Given the description of an element on the screen output the (x, y) to click on. 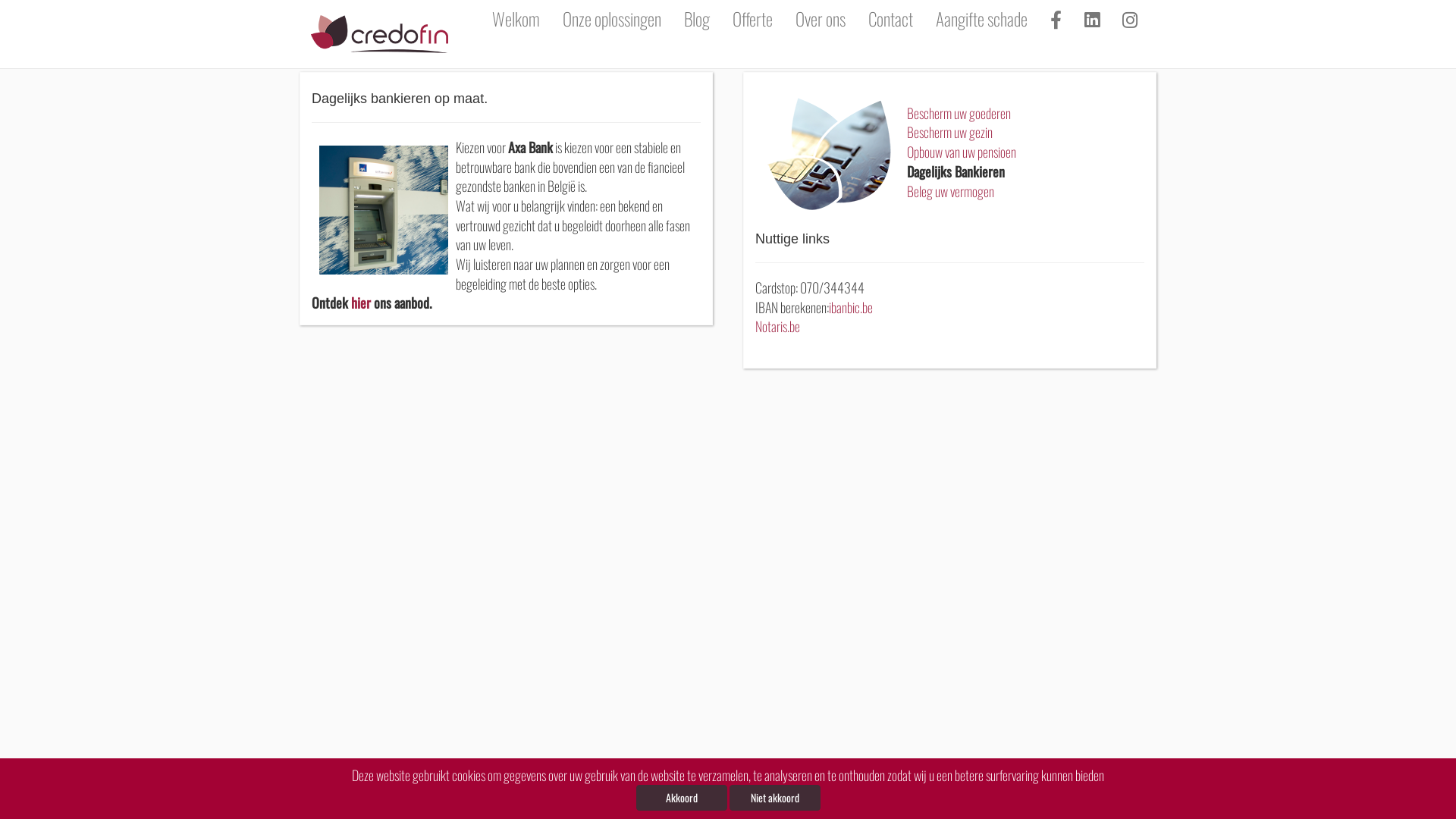
ibanbic.be Element type: text (850, 306)
Aangifte schade Element type: text (981, 18)
Opbouw van uw pensioen Element type: text (961, 151)
Blog Element type: text (696, 18)
Welkom Element type: text (515, 18)
Duurzaamheidsbeleid Element type: text (539, 802)
Notaris.be Element type: text (777, 325)
Privacy verklaring Element type: text (461, 802)
Beleg uw vermogen Element type: text (950, 190)
Assur Mifid gedragsregels Element type: text (378, 802)
Onze oplossingen Element type: text (611, 18)
Aanmelden Element type: text (677, 802)
Bescherm uw gezin Element type: text (949, 131)
Remuneratiebeleid Element type: text (617, 802)
nalo.be Element type: text (1151, 802)
Bescherm uw goederen Element type: text (958, 112)
Over ons Element type: text (820, 18)
Offerte Element type: text (752, 18)
Contact Element type: text (890, 18)
hier Element type: text (360, 302)
